Given the description of an element on the screen output the (x, y) to click on. 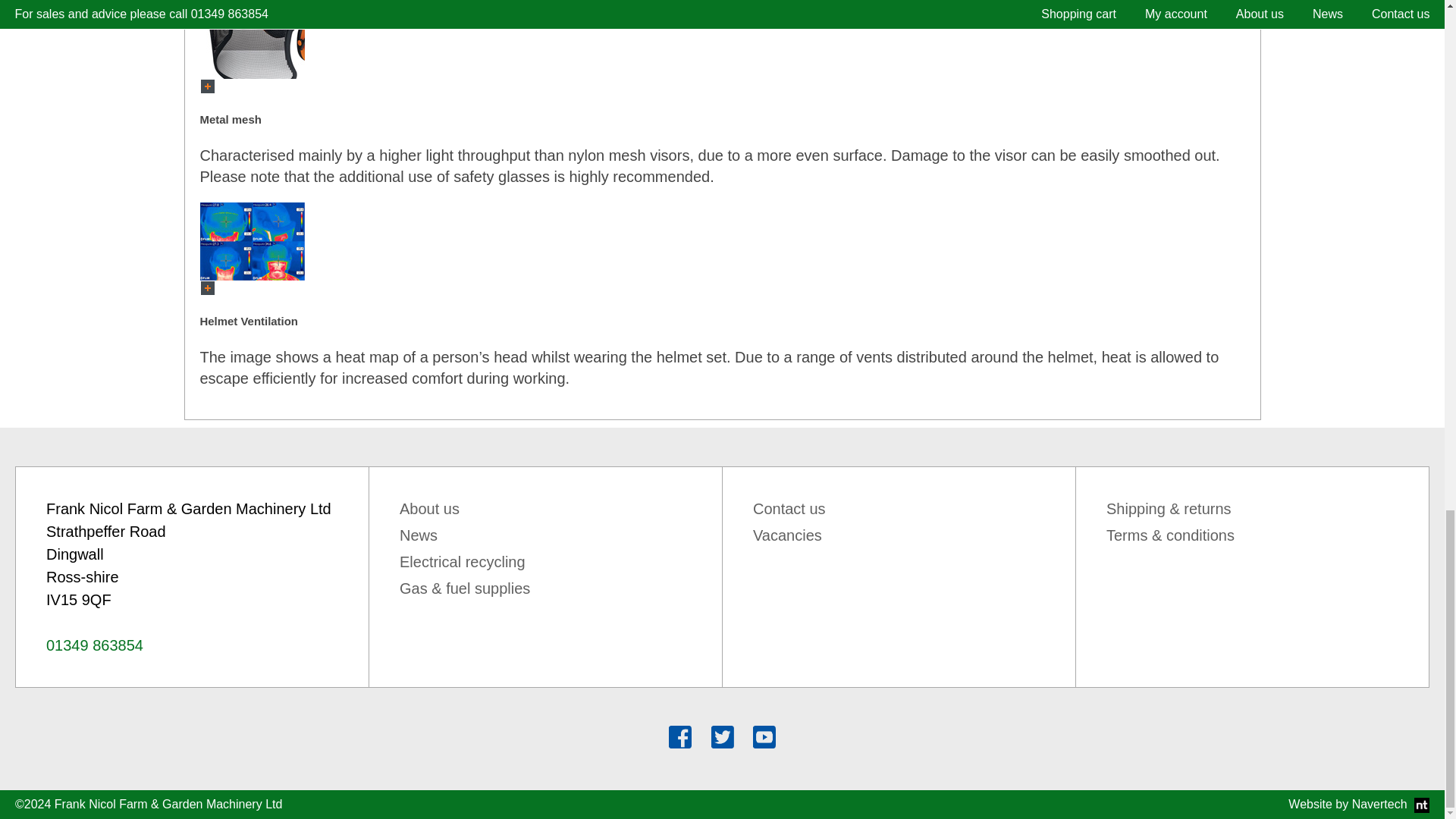
Follow us on Twitter (722, 735)
Follow us on Facebook (679, 735)
Metal mesh (252, 53)
Helmet Ventilation (252, 241)
Follow us on YouTube (764, 735)
